Given the description of an element on the screen output the (x, y) to click on. 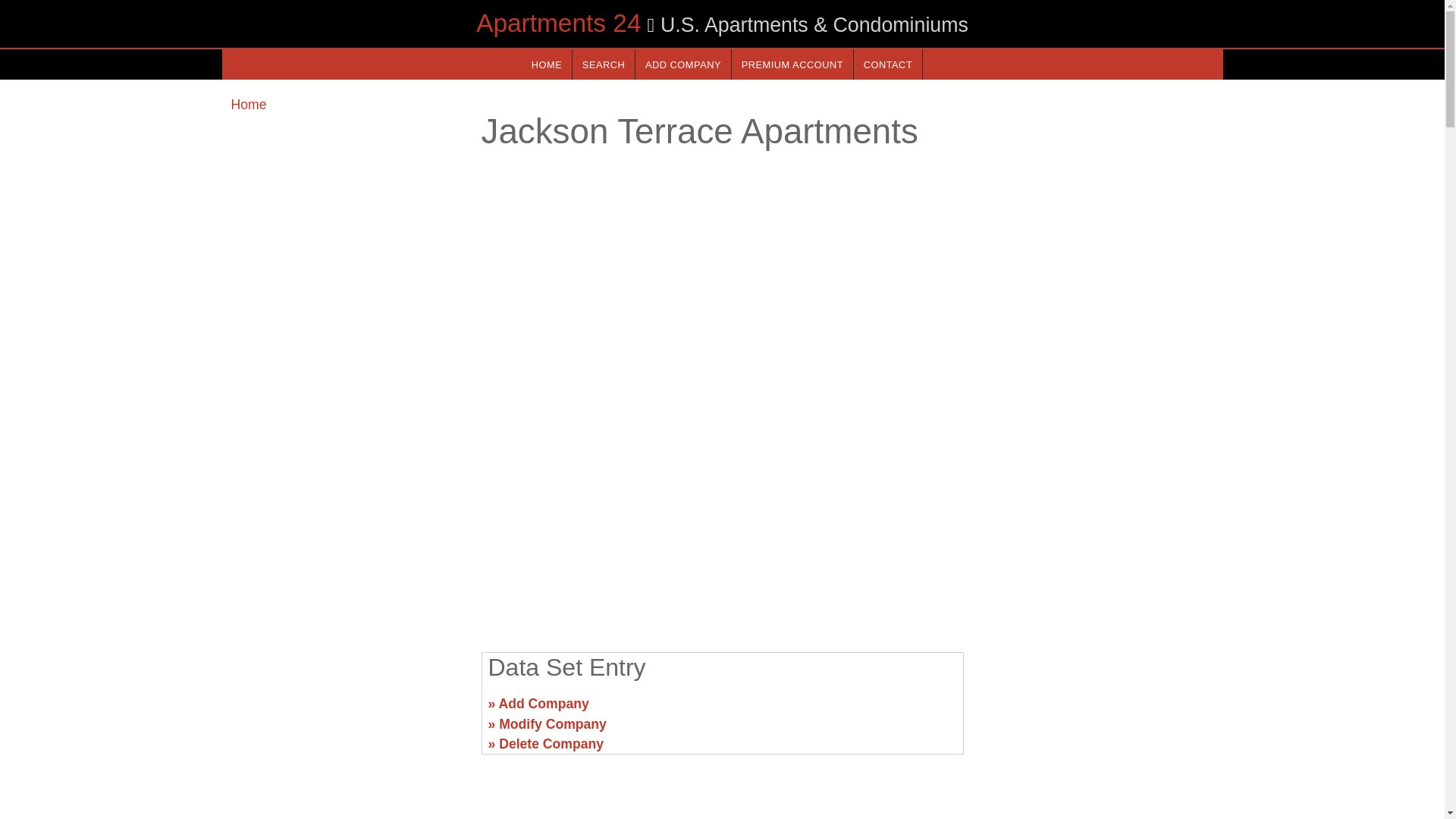
Apartments 24 (558, 22)
Premium account (792, 64)
Advertisement (346, 710)
HOME (546, 64)
Search in this webseite. (603, 64)
CONTACT (887, 64)
Home (248, 104)
SEARCH (603, 64)
ADD COMPANY (682, 64)
